Given the description of an element on the screen output the (x, y) to click on. 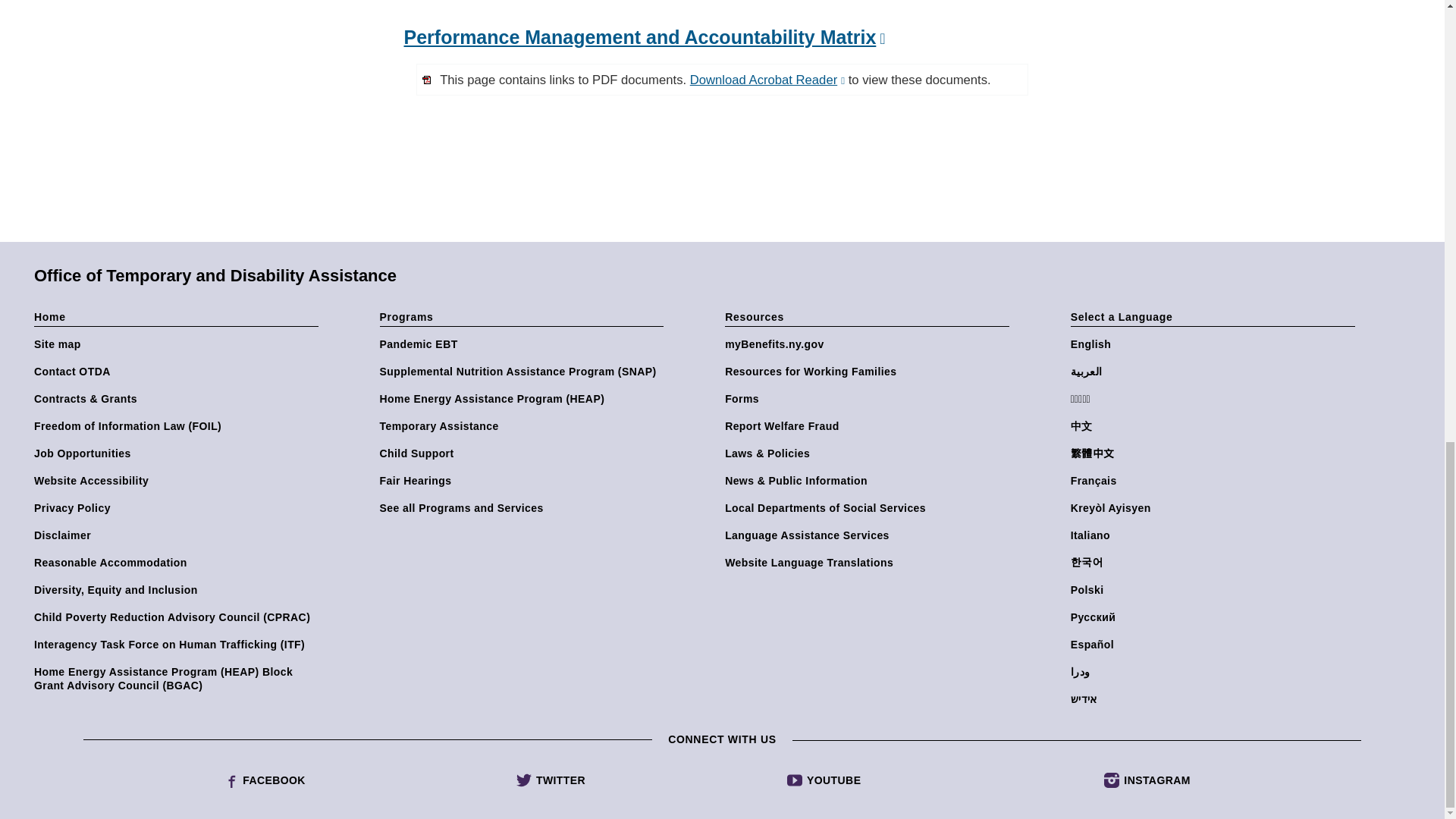
Site map (178, 344)
Haitian-Creole (1215, 508)
Polish (1215, 590)
Urdu (1215, 671)
Temporary Assistance (524, 426)
Fair Hearings (524, 480)
Traditional Chinese (1215, 453)
Bengali (1215, 398)
French (1215, 480)
Pandemic EBT (524, 344)
